Given the description of an element on the screen output the (x, y) to click on. 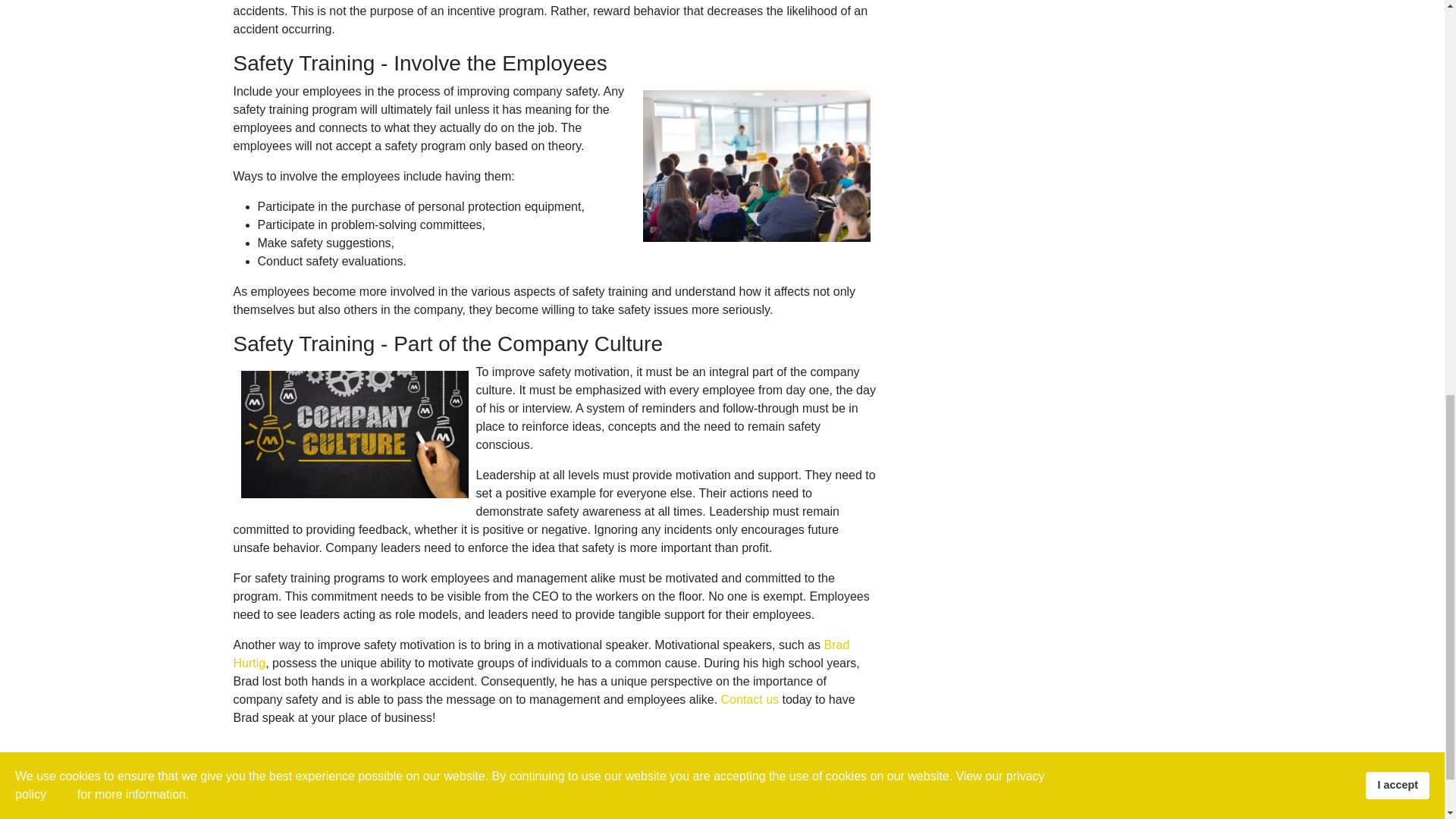
Brad Hurtig (541, 653)
Contact us (749, 698)
